Given the description of an element on the screen output the (x, y) to click on. 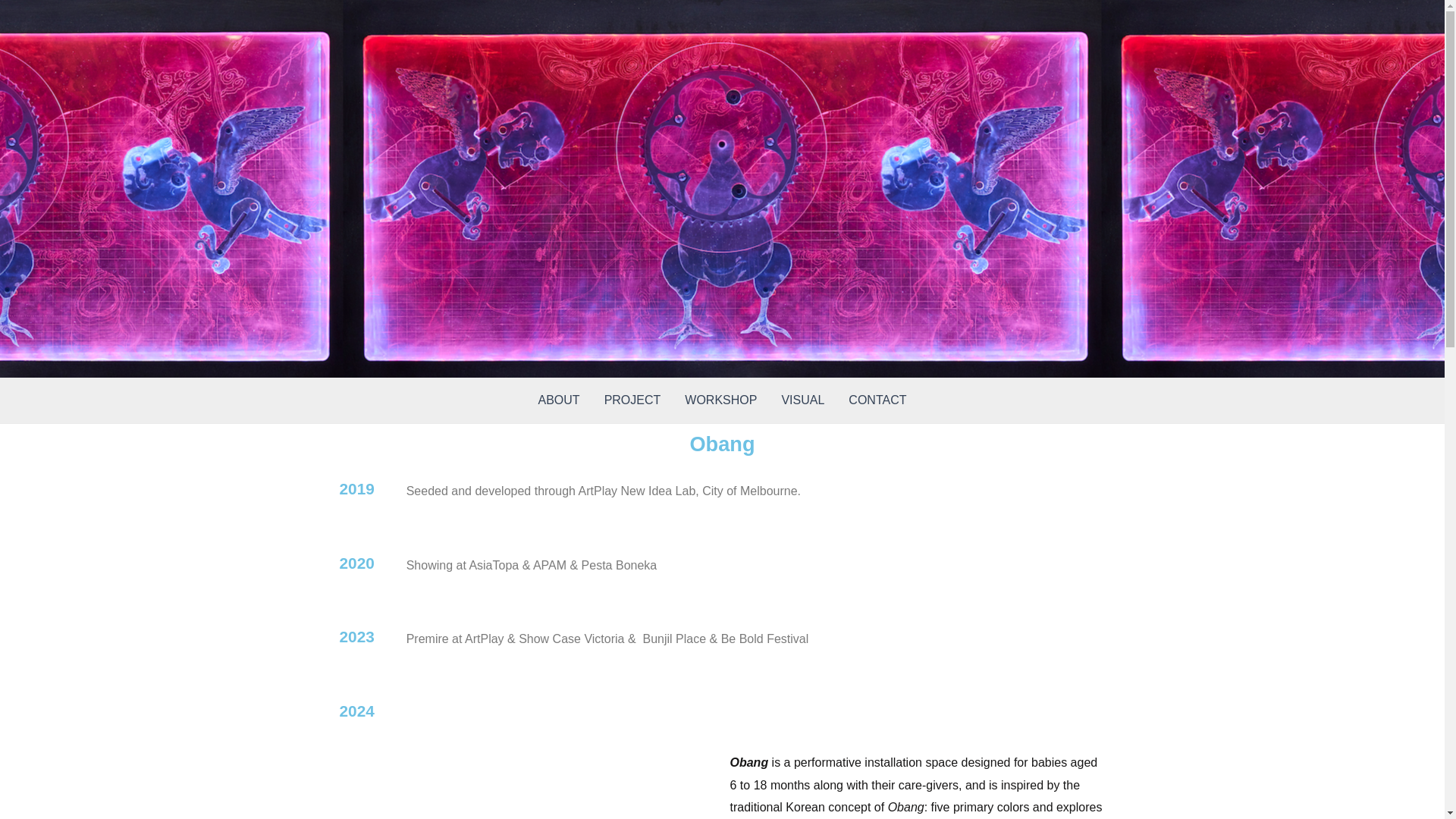
ABOUT (558, 400)
CONTACT (876, 400)
WORKSHOP (720, 400)
PROJECT (632, 400)
VISUAL (801, 400)
